Given the description of an element on the screen output the (x, y) to click on. 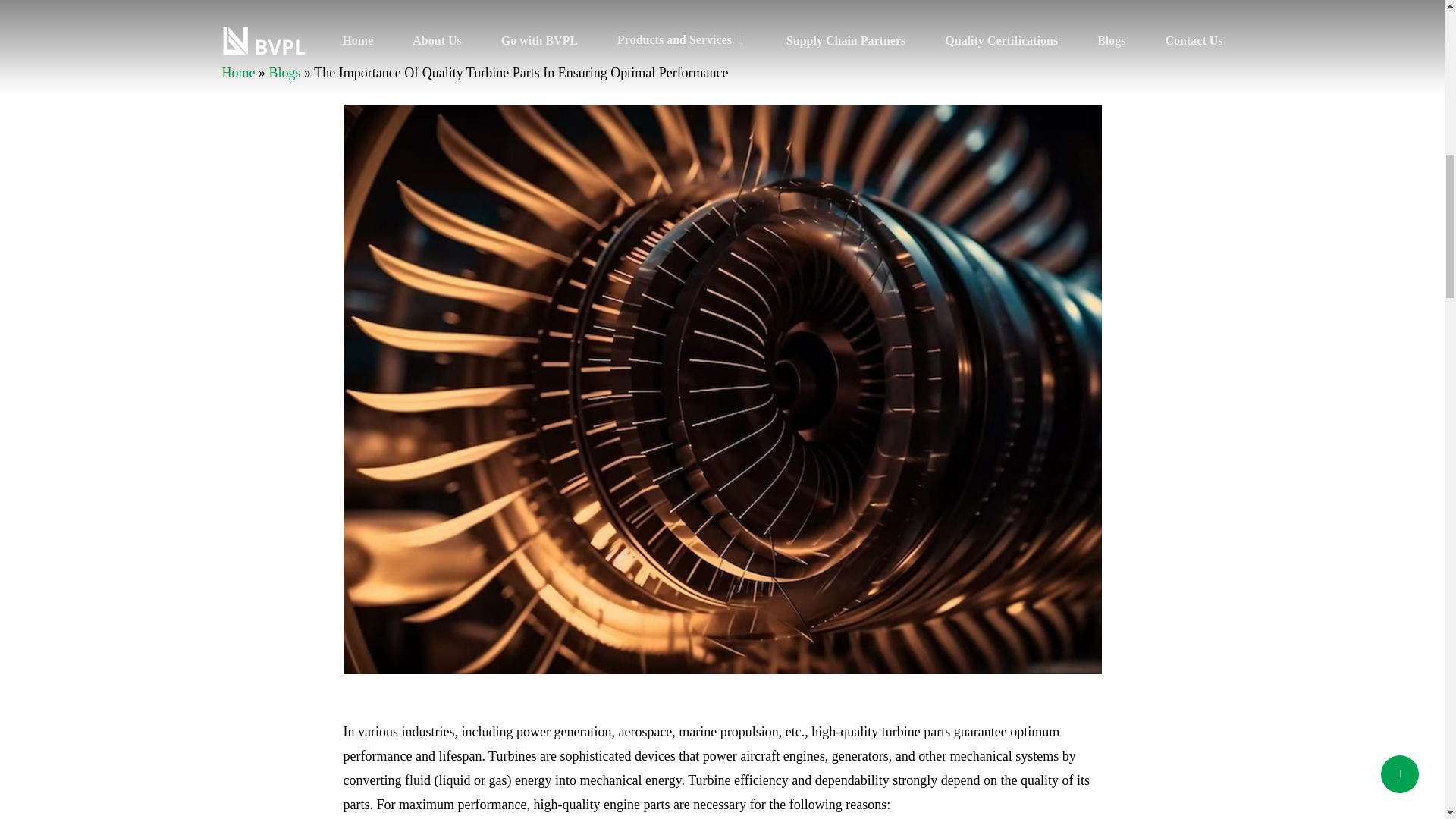
Blogs (283, 72)
Home (237, 72)
